Given the description of an element on the screen output the (x, y) to click on. 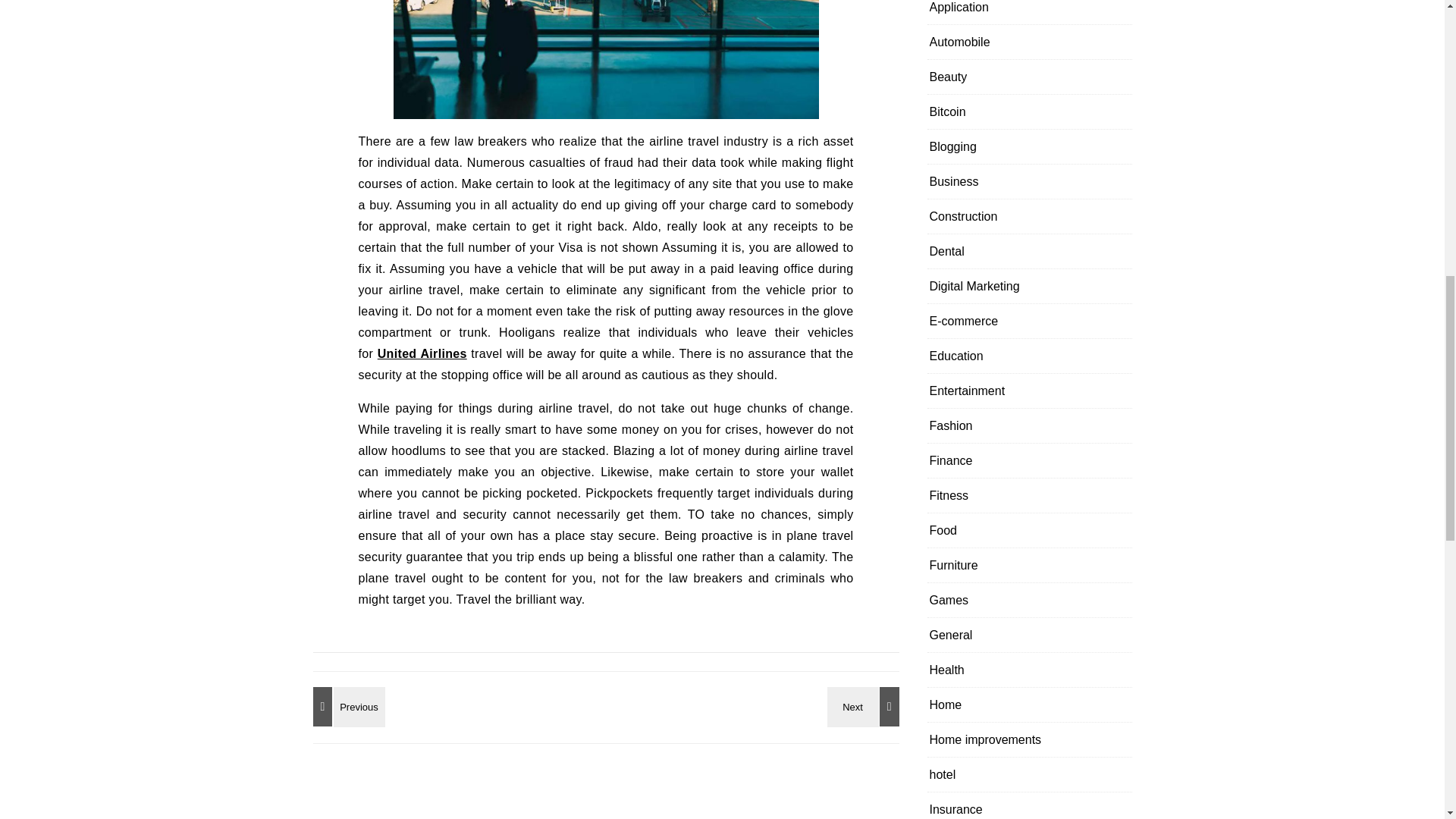
Fashion (951, 425)
Beauty (949, 76)
Fitness (949, 495)
United Airlines (422, 353)
Food (943, 530)
Application (959, 12)
Business (954, 181)
Dental (946, 251)
Education (957, 356)
Construction (963, 216)
Bitcoin (948, 111)
E-commerce (964, 320)
Digital Marketing (975, 286)
